Given the description of an element on the screen output the (x, y) to click on. 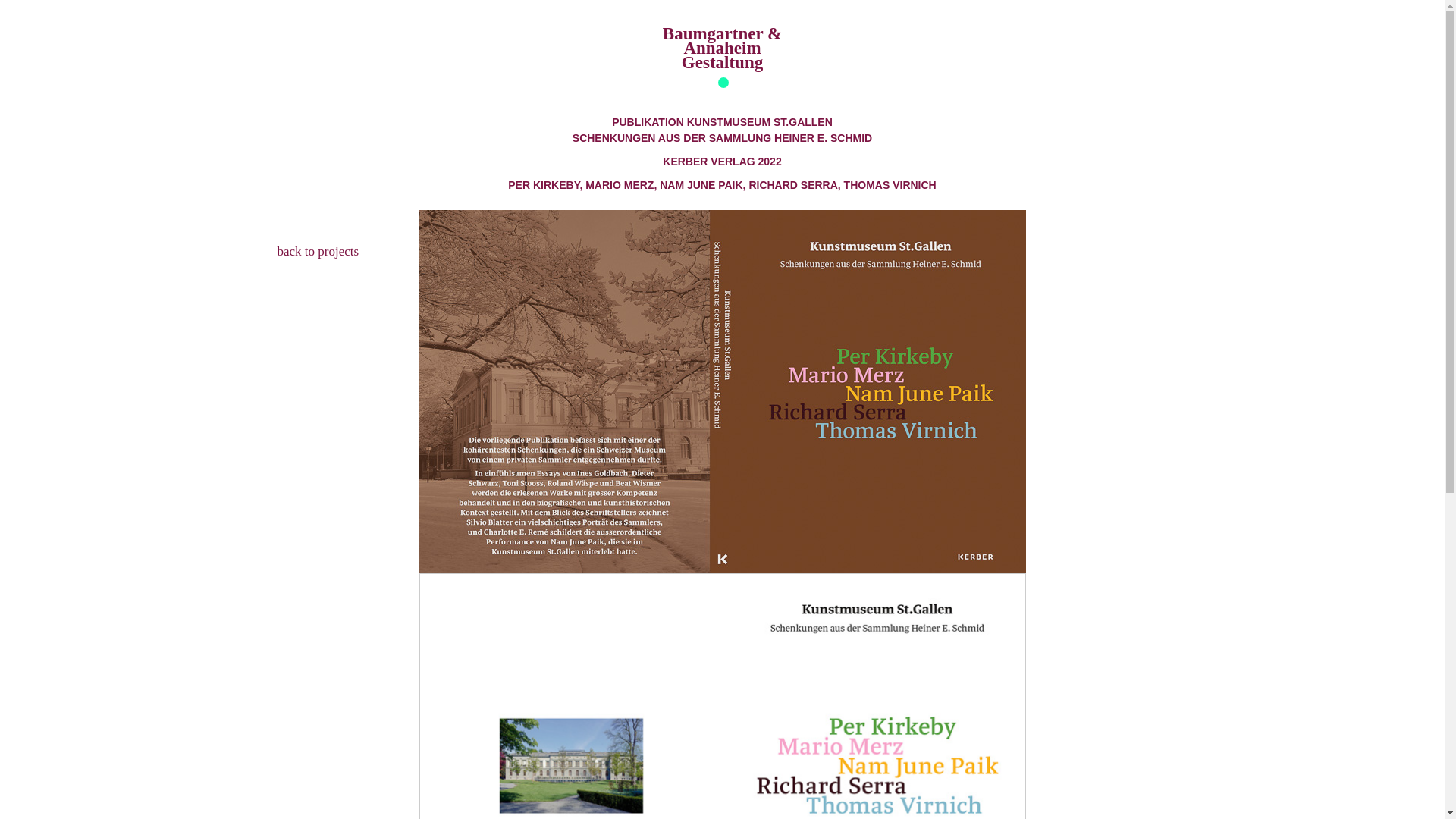
Baumgartner & Annaheim Gestaltung Element type: text (721, 48)
back to projects Element type: text (318, 251)
